Given the description of an element on the screen output the (x, y) to click on. 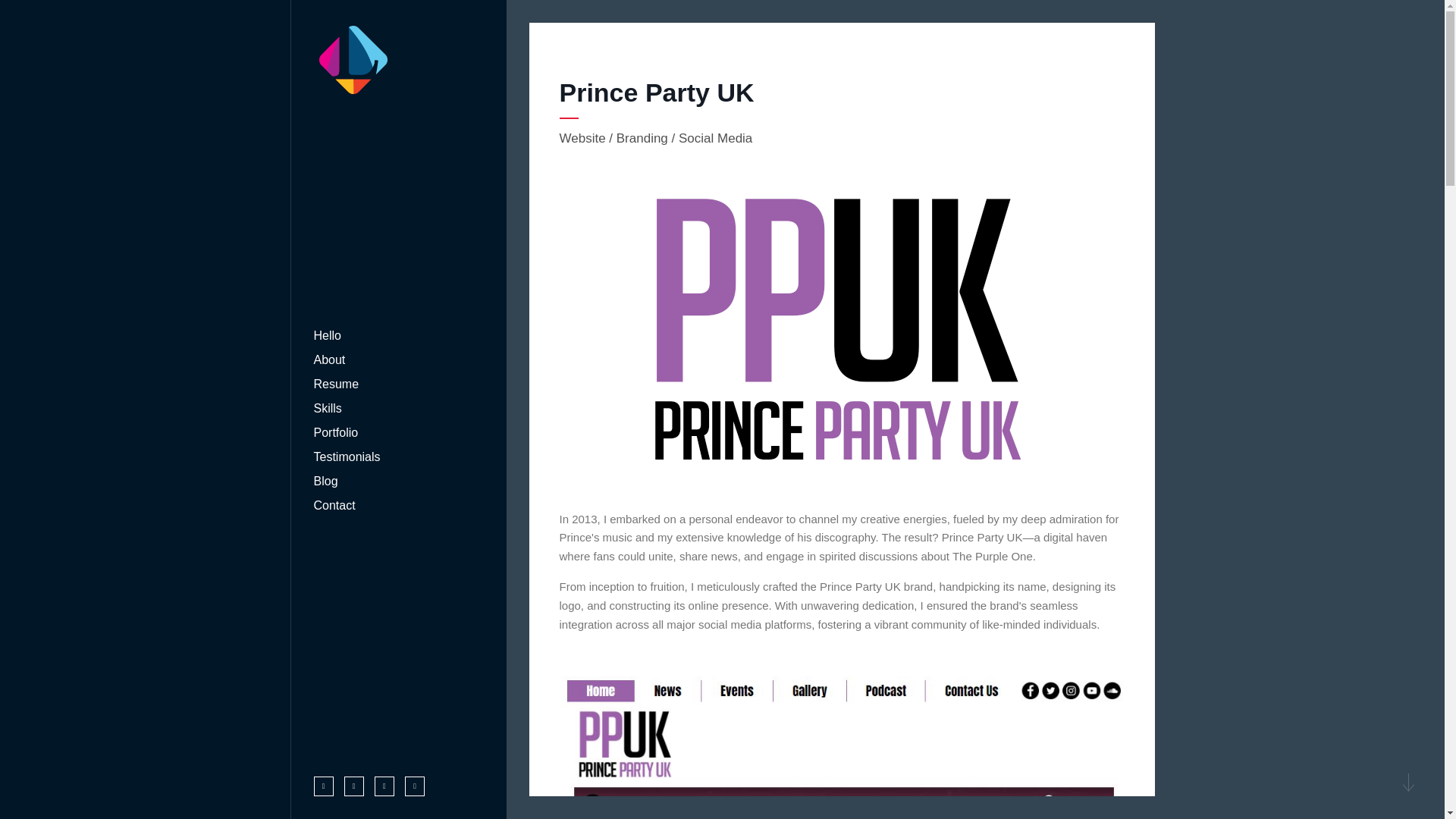
About (330, 359)
Blog (325, 481)
Skills (328, 408)
Testimonials (347, 456)
Contact (334, 504)
Portfolio (336, 431)
Hello (327, 335)
Resume (336, 383)
